Given the description of an element on the screen output the (x, y) to click on. 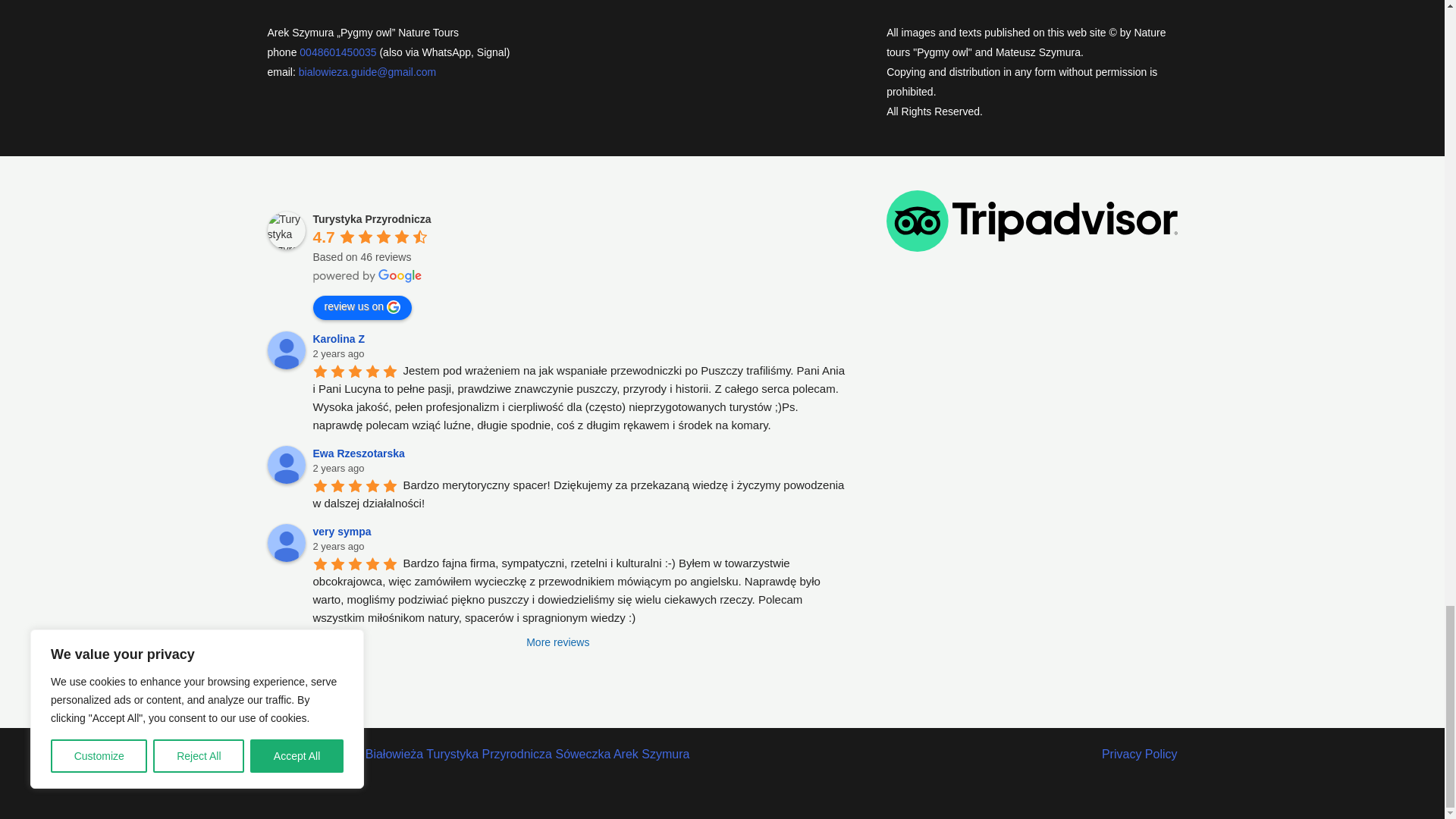
Turystyka Przyrodnicza  (285, 230)
very sympa (285, 542)
Karolina Z (285, 350)
Ewa Rzeszotarska (285, 464)
powered by Google (367, 275)
